Given the description of an element on the screen output the (x, y) to click on. 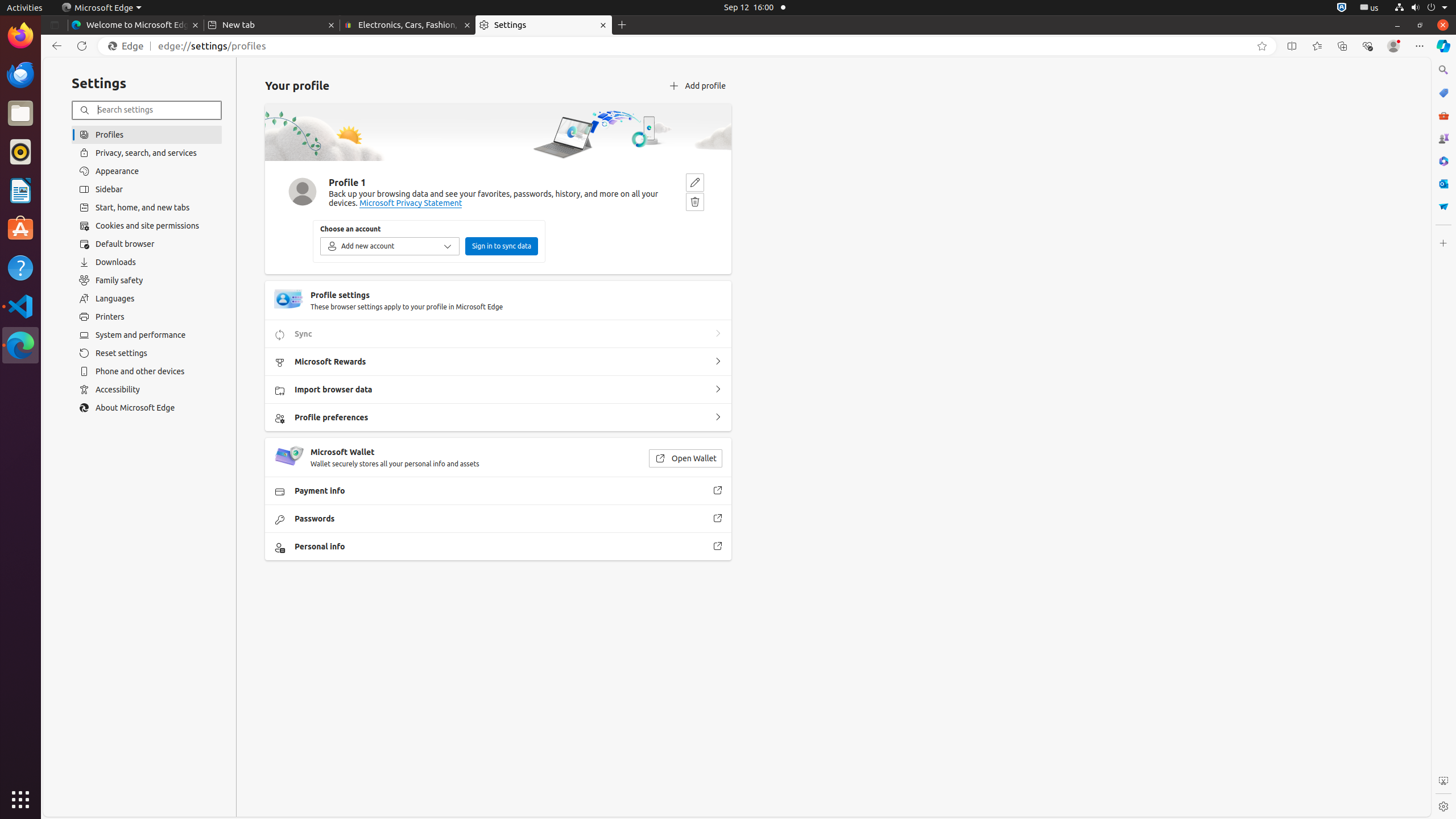
Favorites Element type: push-button (1316, 45)
New tab Element type: page-tab (271, 25)
Close tab Element type: push-button (195, 25)
Profile preferences Element type: push-button (717, 417)
Back Element type: push-button (54, 45)
